Given the description of an element on the screen output the (x, y) to click on. 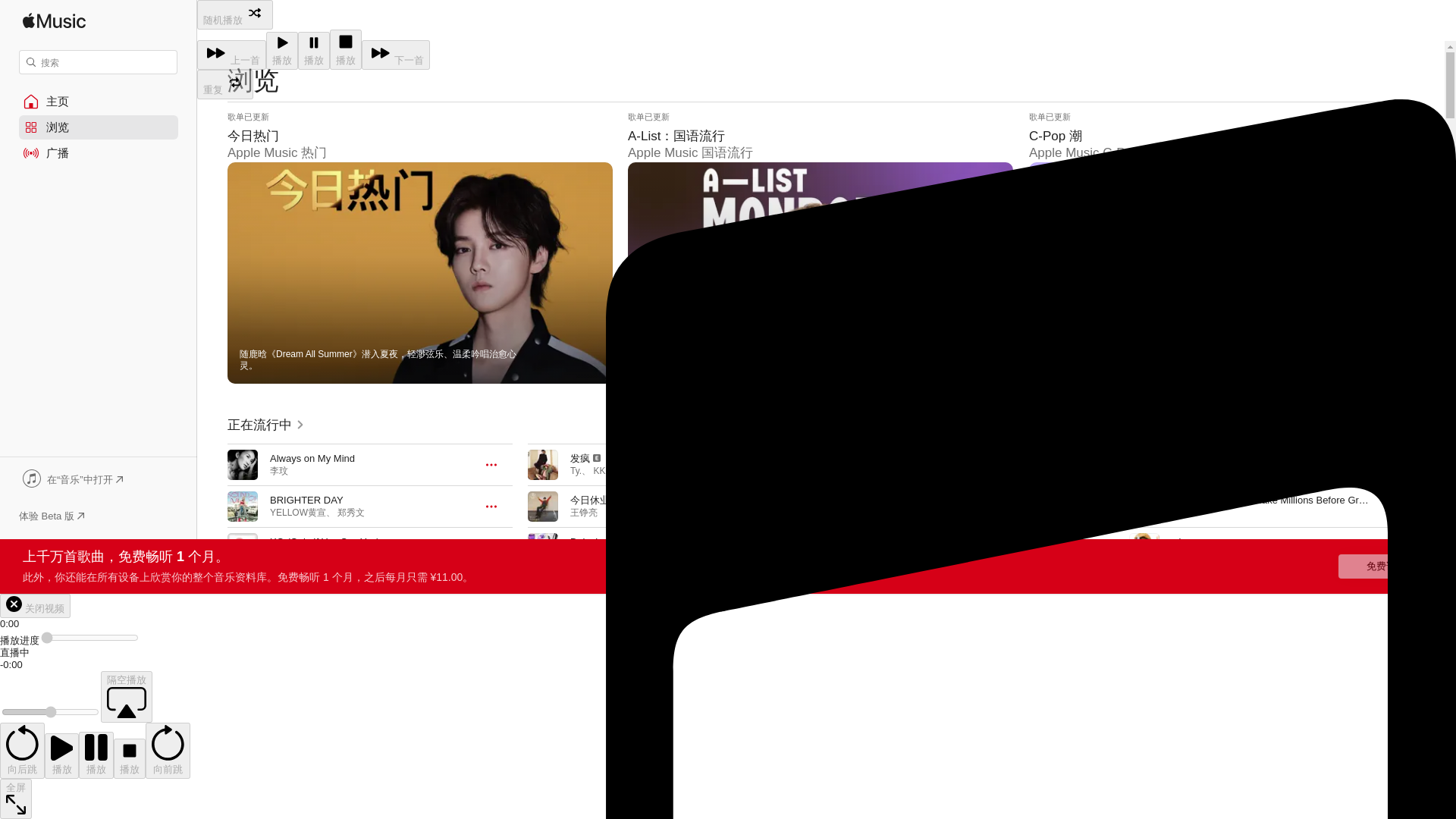
BRIGHTER DAY (306, 500)
ENHYPEN (291, 553)
Always on My Mind (312, 458)
